Given the description of an element on the screen output the (x, y) to click on. 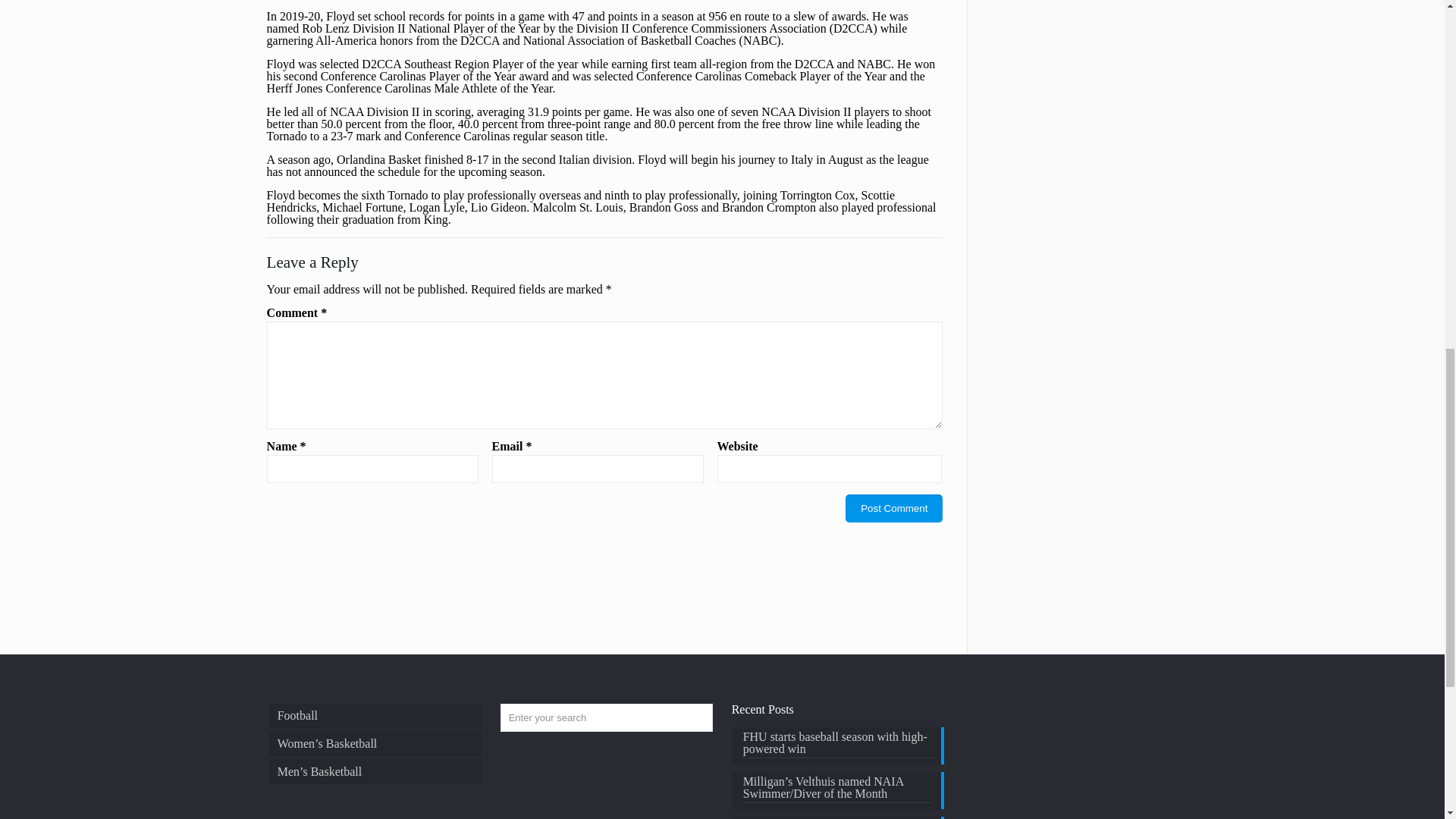
Post Comment (893, 508)
